Given the description of an element on the screen output the (x, y) to click on. 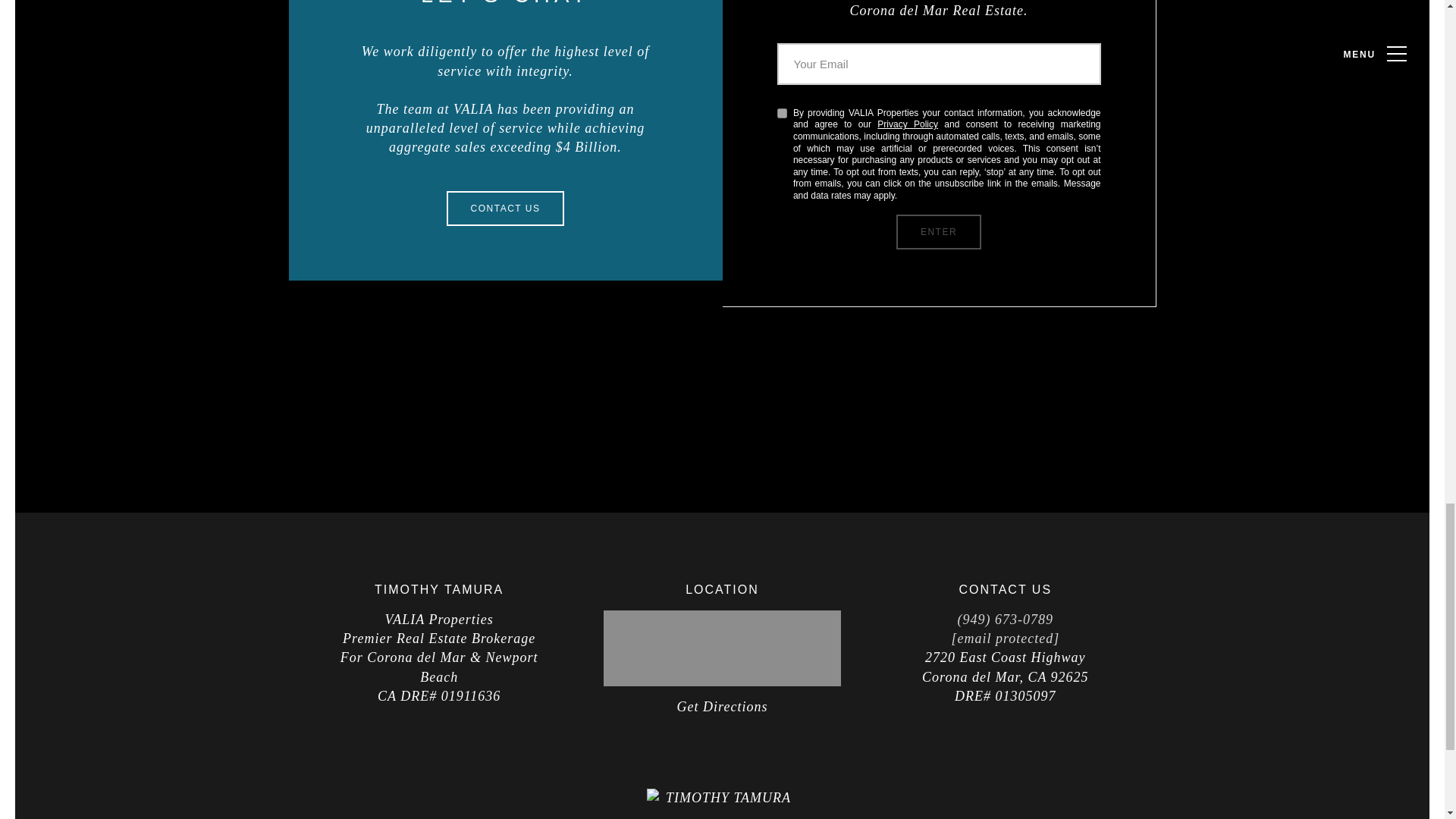
on (781, 112)
Privacy Policy (907, 123)
ENTER (938, 231)
CONTACT US (505, 208)
Get Directions (722, 706)
